Given the description of an element on the screen output the (x, y) to click on. 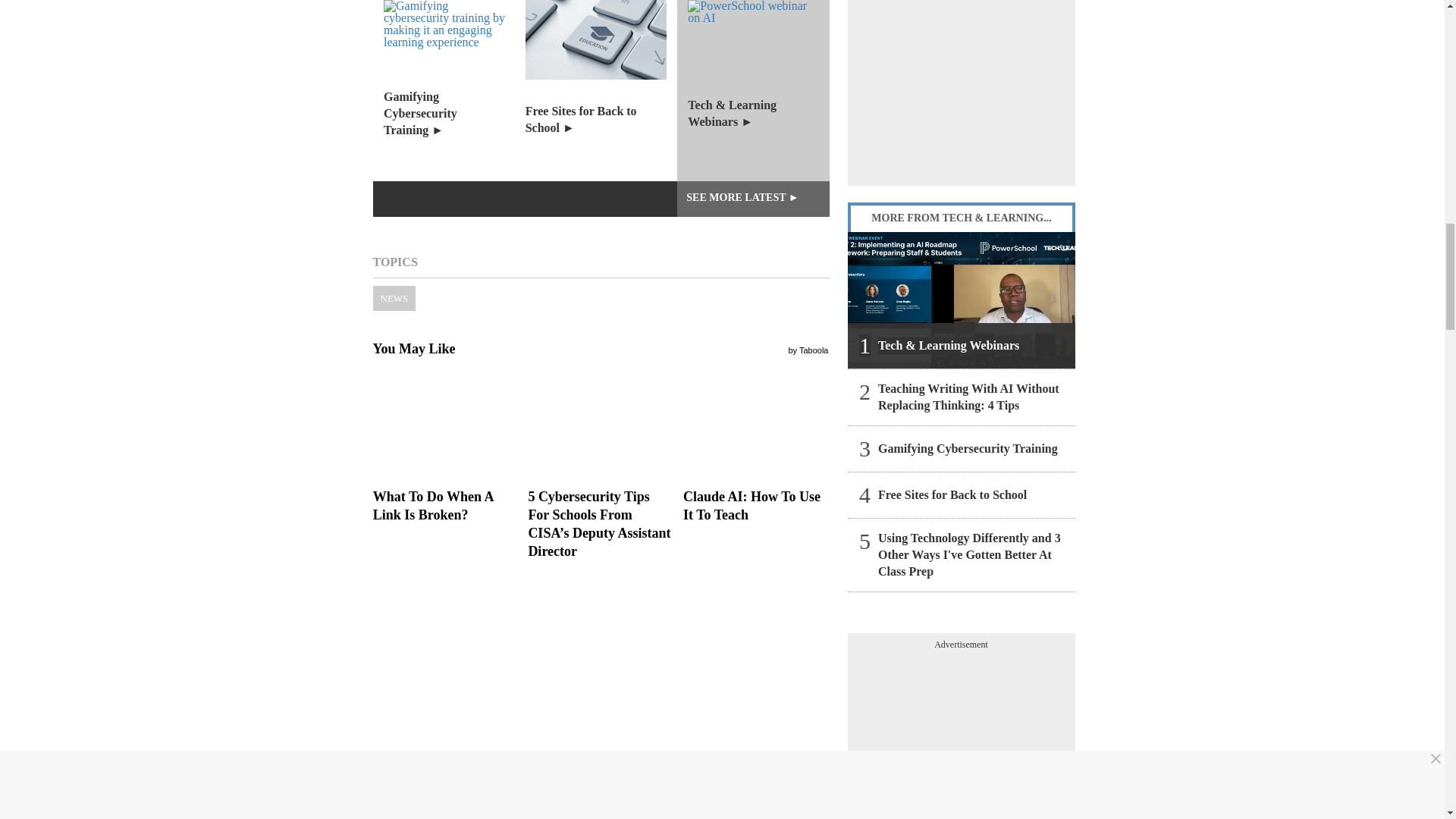
What To Do When A Link Is Broken? (445, 505)
What To Do When A Link Is Broken? (445, 423)
Claude AI: How To Use It To Teach (755, 505)
Claude AI: How To Use It To Teach (755, 423)
